Given the description of an element on the screen output the (x, y) to click on. 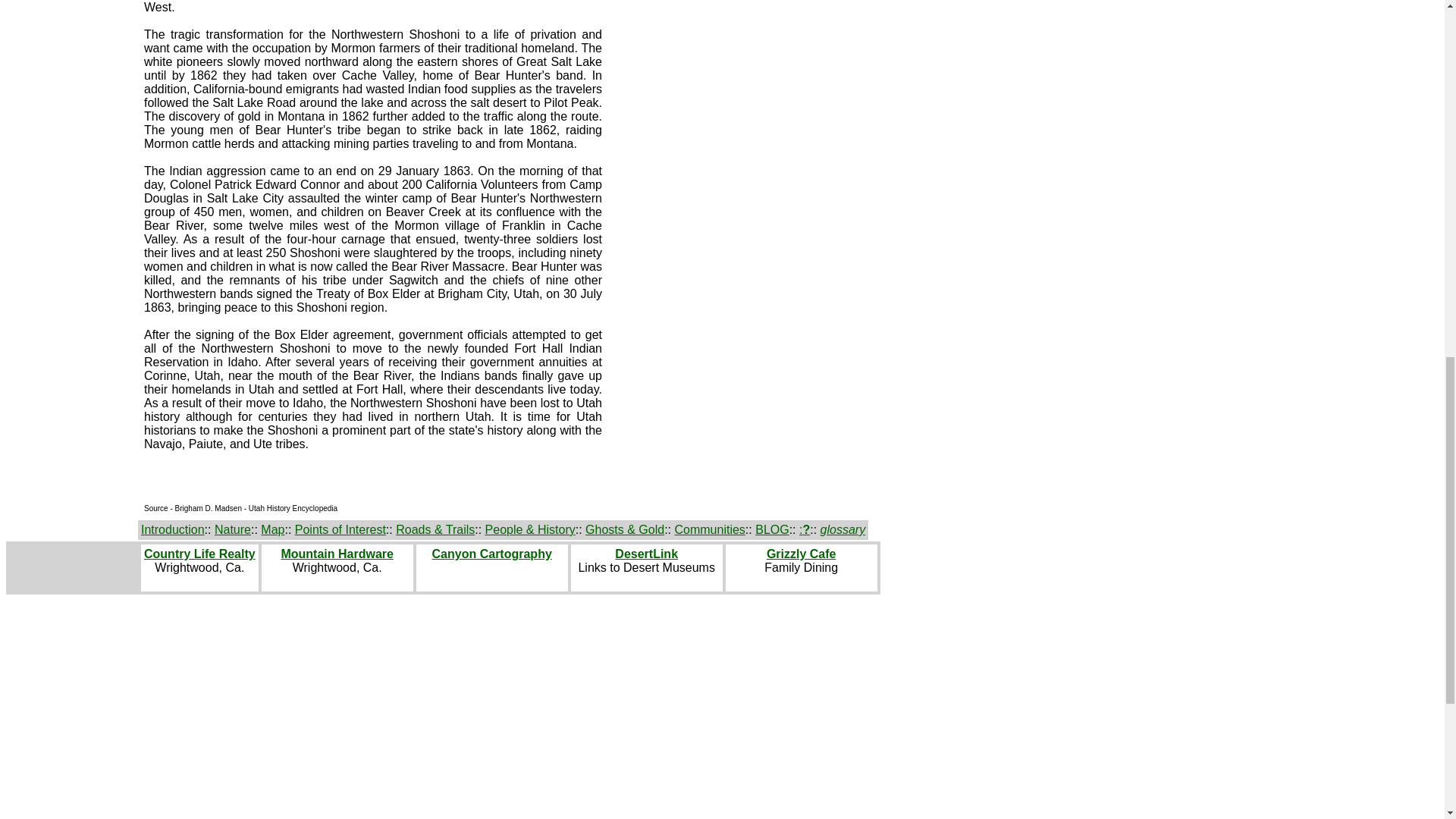
DesertLink (646, 553)
Canyon Cartography (491, 553)
Points of Interest (340, 529)
Country Life Realty (200, 553)
Mountain Hardware (337, 553)
Grizzly Cafe (801, 553)
Map (271, 529)
glossary (843, 529)
BLOG (772, 529)
Introduction (173, 529)
Nature (232, 529)
Communities (710, 529)
